Given the description of an element on the screen output the (x, y) to click on. 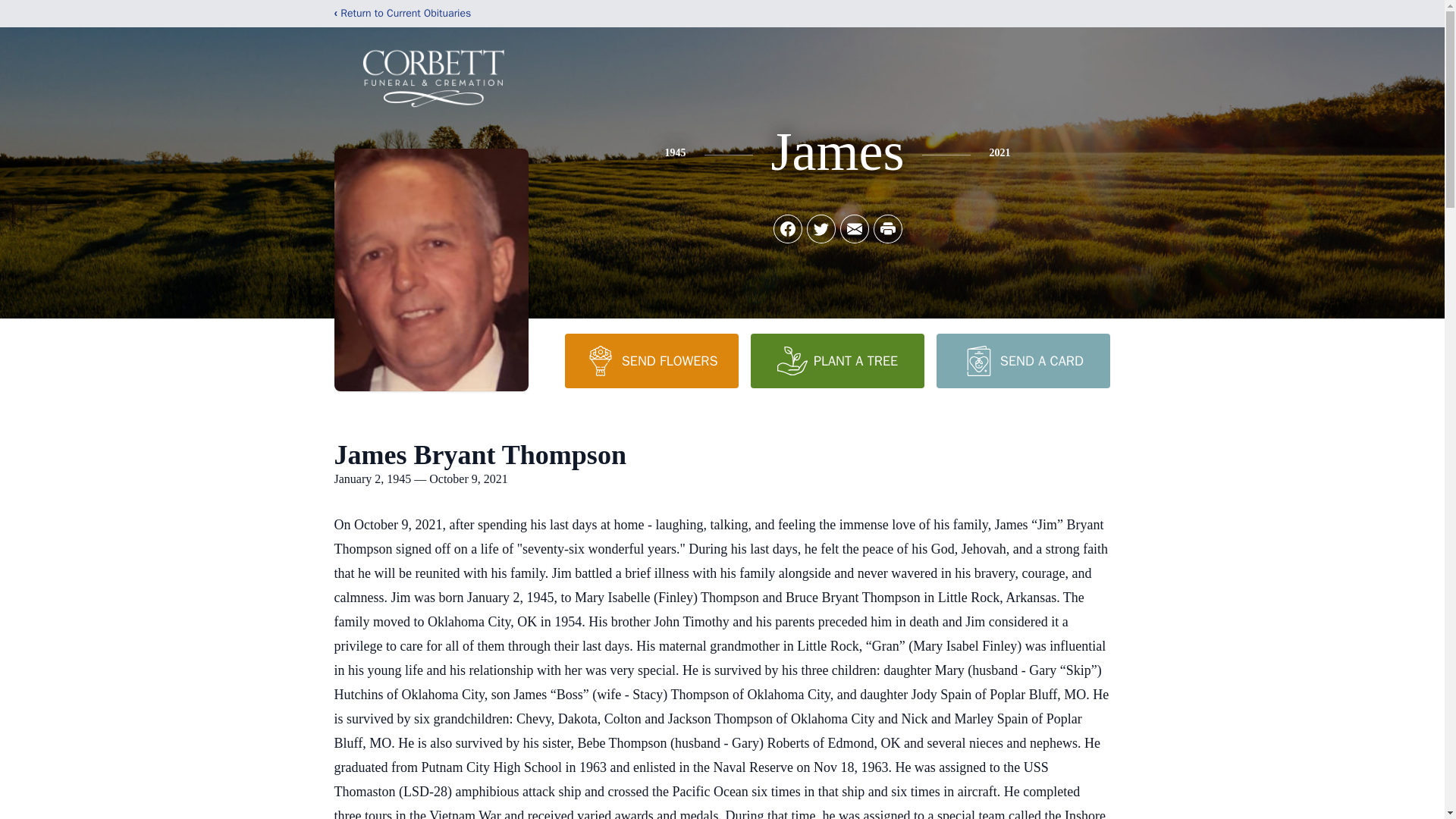
PLANT A TREE (837, 360)
SEND FLOWERS (651, 360)
SEND A CARD (1022, 360)
